Given the description of an element on the screen output the (x, y) to click on. 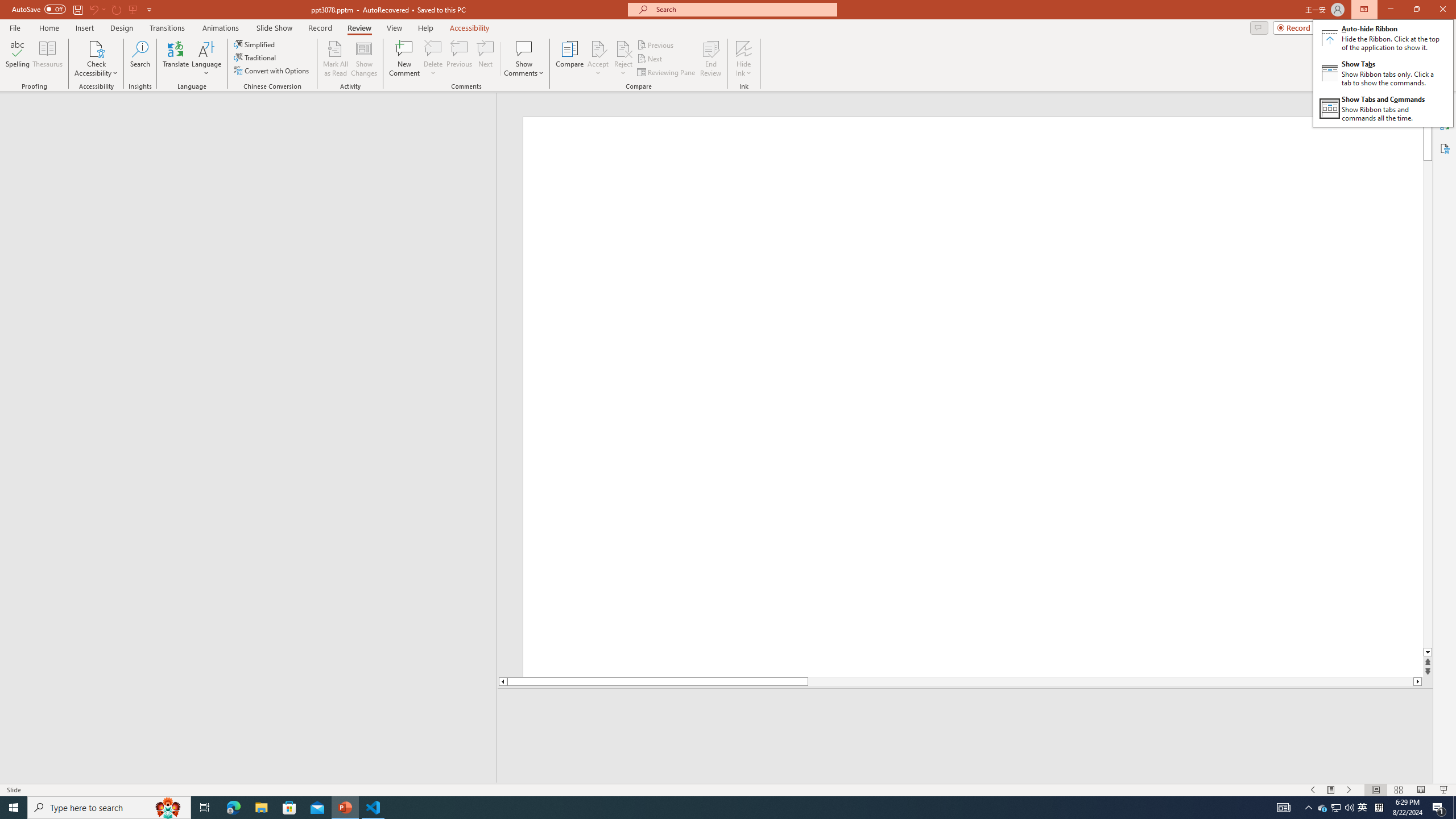
Slide Show Previous On (1313, 790)
